Given the description of an element on the screen output the (x, y) to click on. 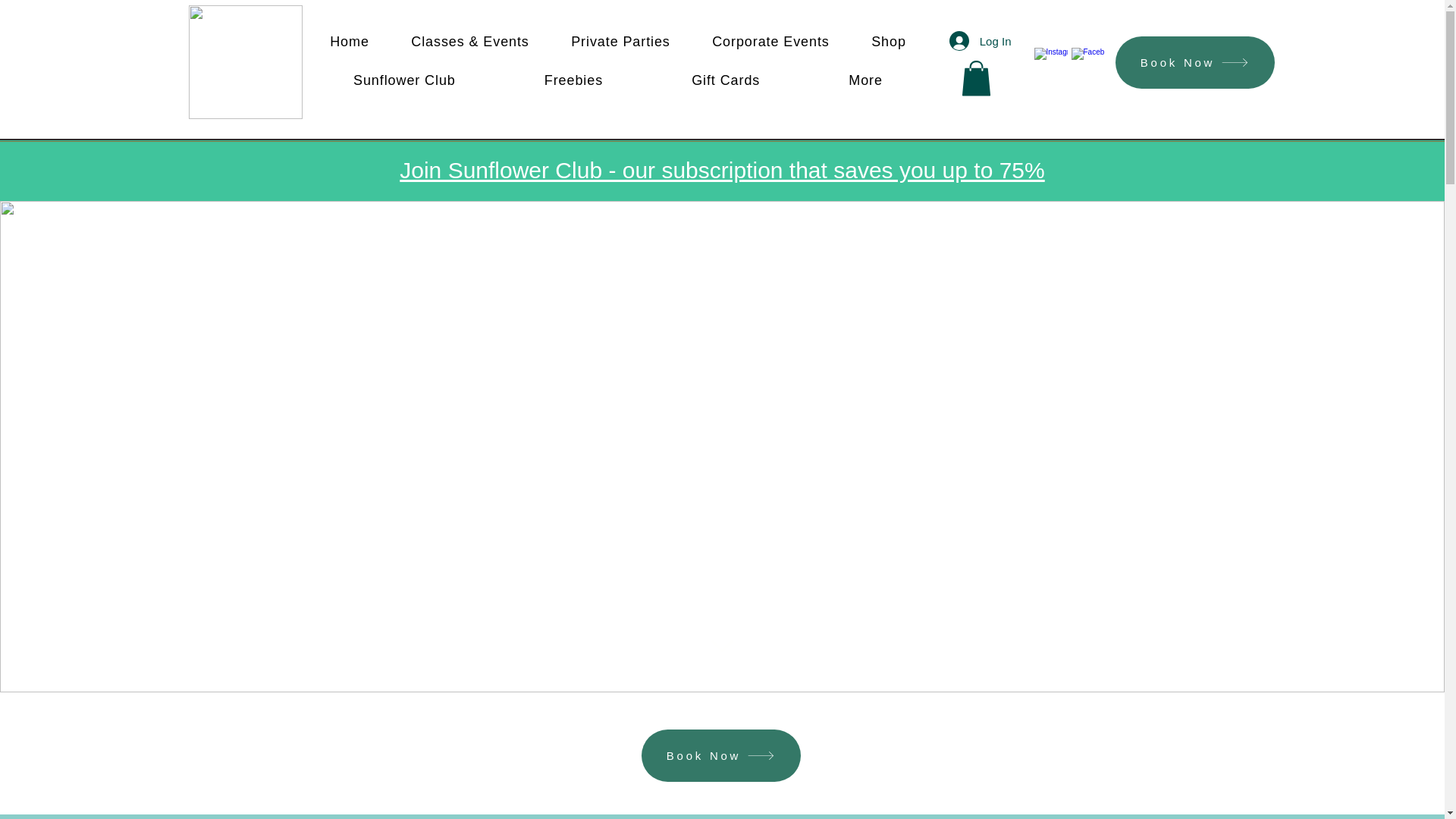
Book Now (1194, 62)
Gift Cards (726, 80)
Log In (980, 40)
Freebies (572, 80)
Home (350, 41)
